Given the description of an element on the screen output the (x, y) to click on. 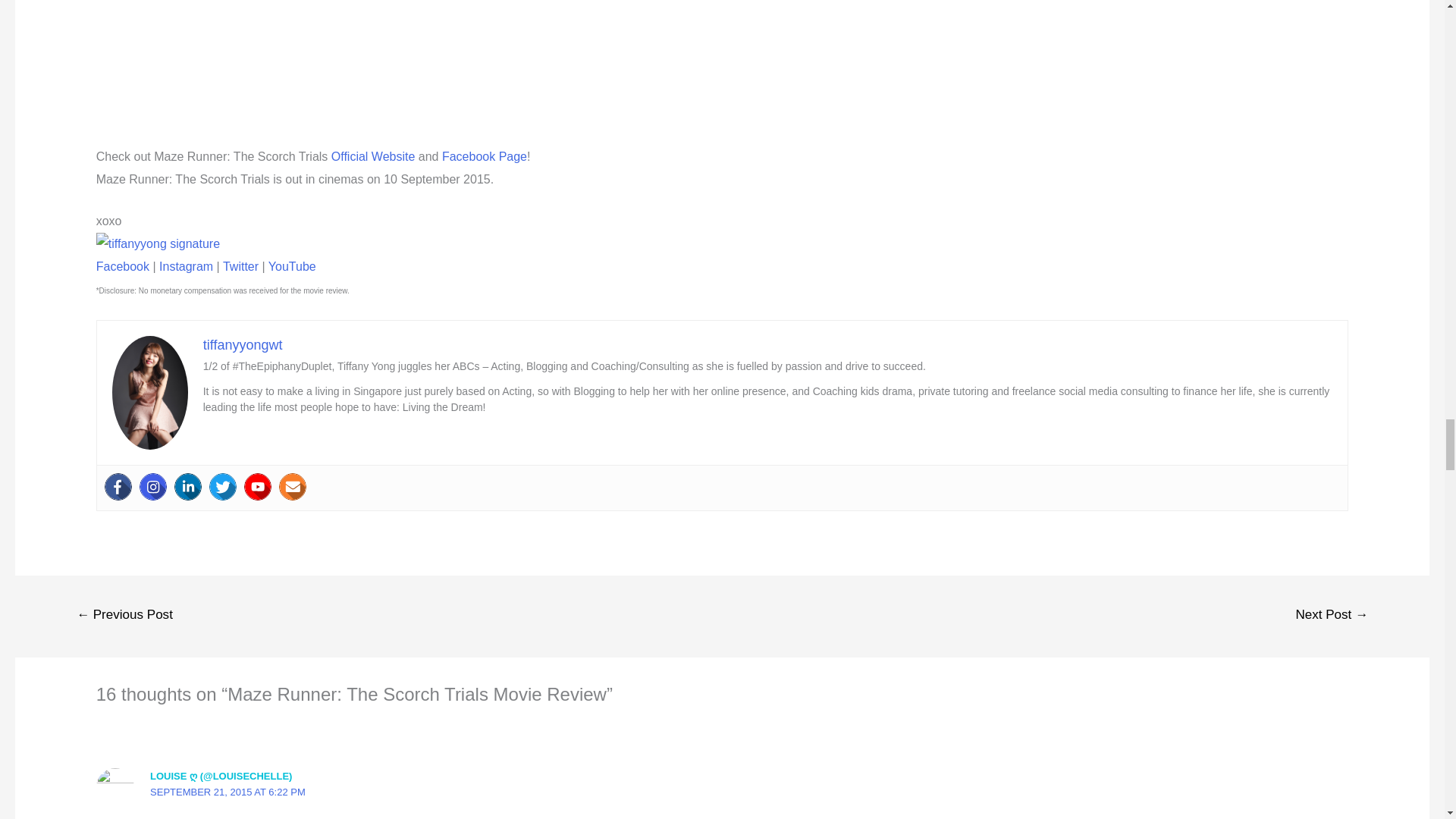
Official Website (372, 155)
Facebook (118, 486)
Instagram (185, 266)
Instagram (153, 486)
Facebook Page (484, 155)
Facebook (122, 266)
